Given the description of an element on the screen output the (x, y) to click on. 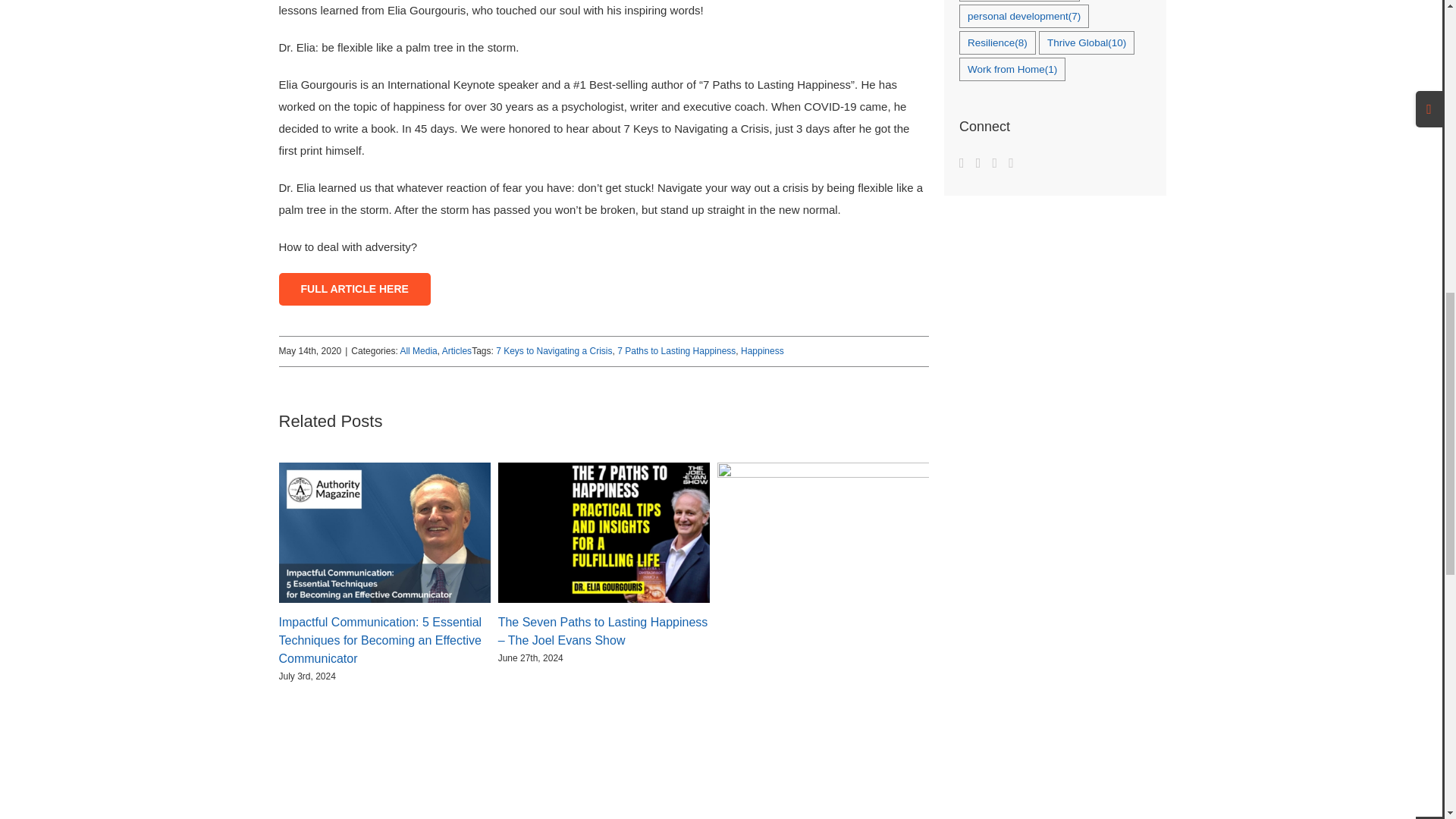
Happiness (762, 350)
FULL ARTICLE HERE (354, 288)
7 Keys to Navigating a Crisis (553, 350)
All Media (417, 350)
7 Paths to Lasting Happiness (676, 350)
Articles (456, 350)
